Given the description of an element on the screen output the (x, y) to click on. 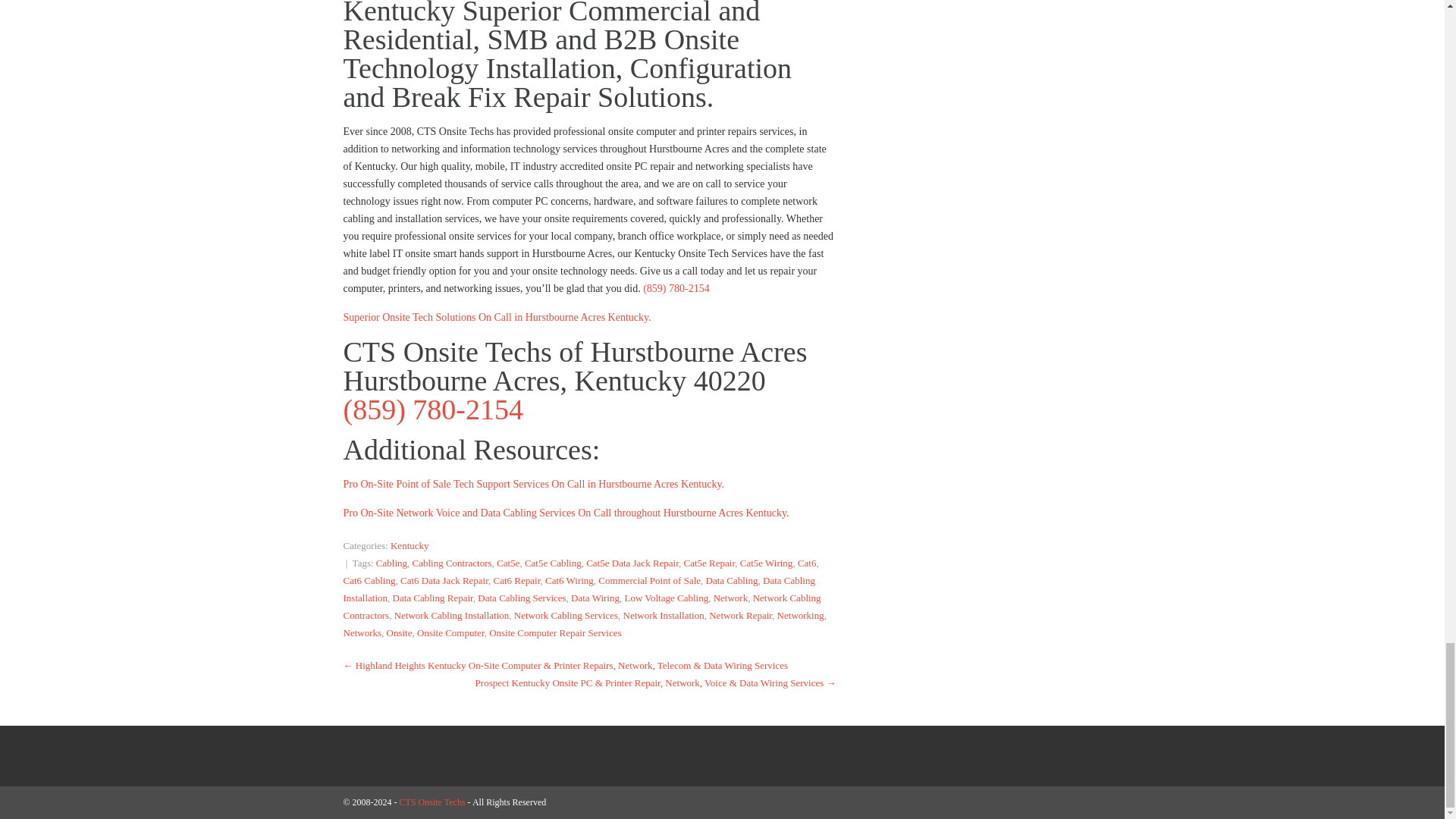
Cat5e Cabling (552, 562)
Kentucky (409, 545)
Cat6 (806, 562)
Cat5e Data Jack Repair (632, 562)
View all posts in Kentucky (409, 545)
Cat6 Wiring (569, 580)
Cat5e (507, 562)
Cabling Contractors (452, 562)
Cat6 Data Jack Repair (443, 580)
